Given the description of an element on the screen output the (x, y) to click on. 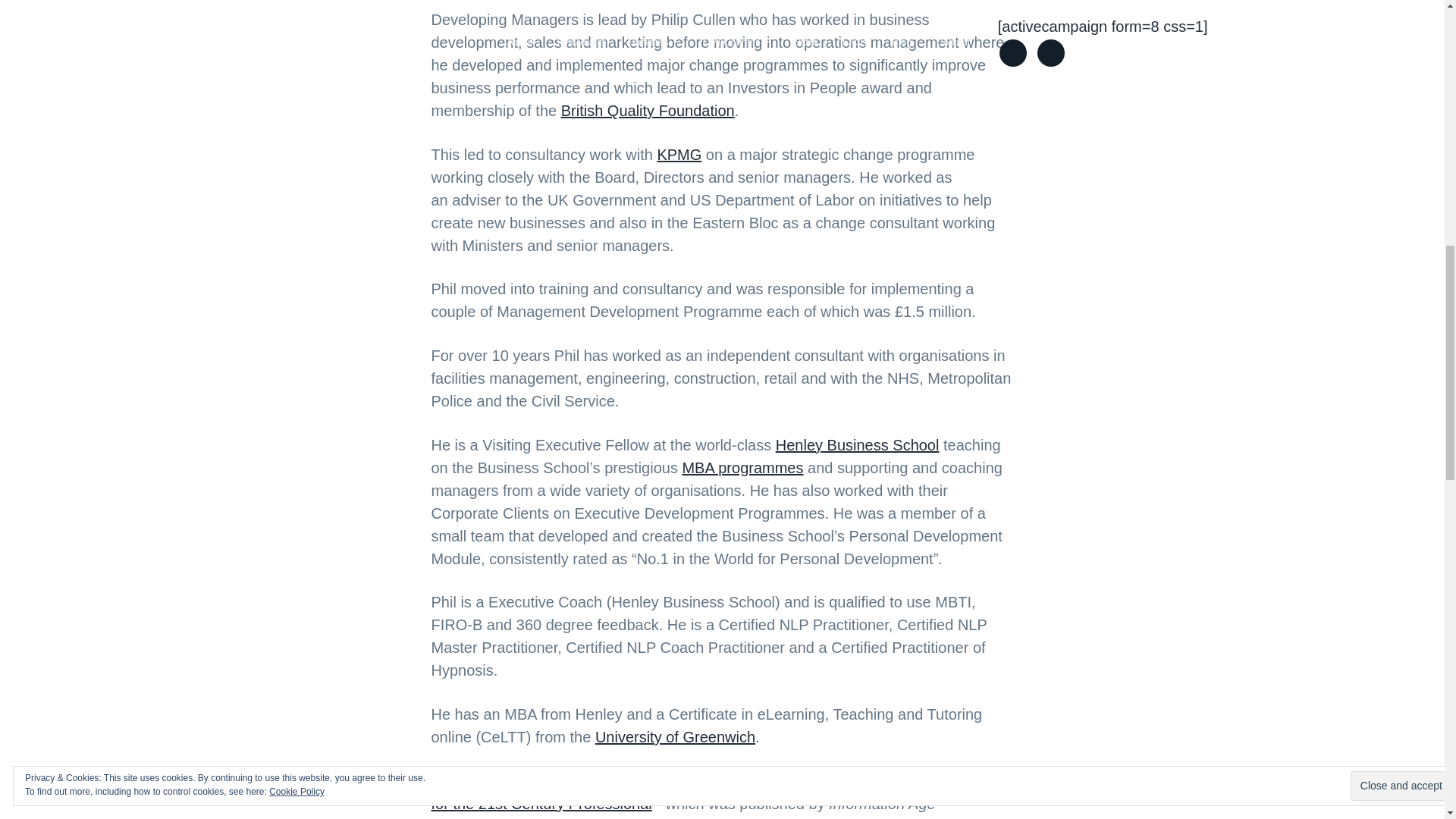
British Quality Foundation (647, 110)
Henley Business School (857, 444)
MBA programmes (742, 467)
University of Greenwich (675, 736)
KPMG (678, 154)
